Given the description of an element on the screen output the (x, y) to click on. 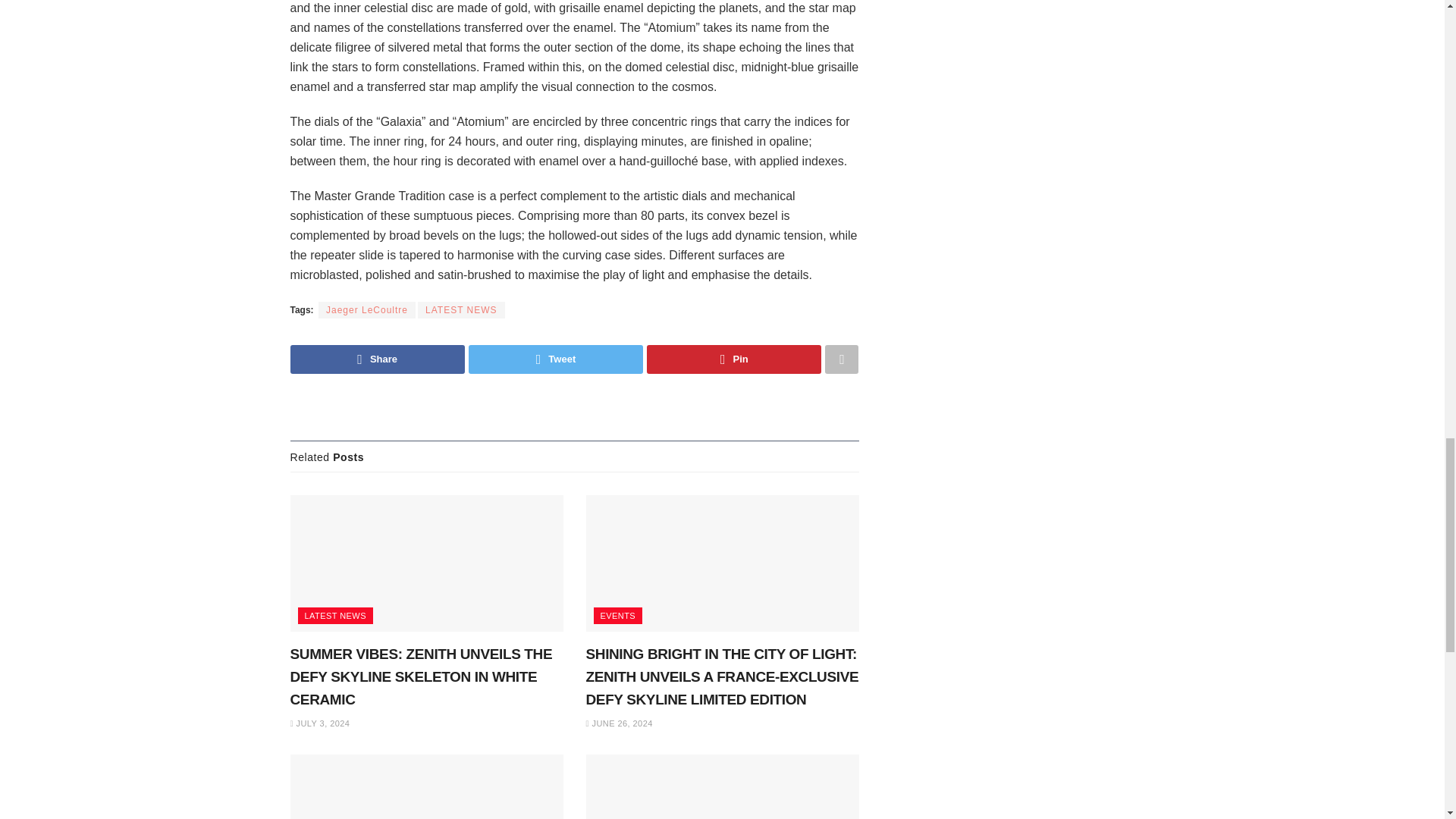
Pin (733, 358)
Tweet (555, 358)
LATEST NEWS (461, 310)
Share (376, 358)
Jaeger LeCoultre (366, 310)
